Given the description of an element on the screen output the (x, y) to click on. 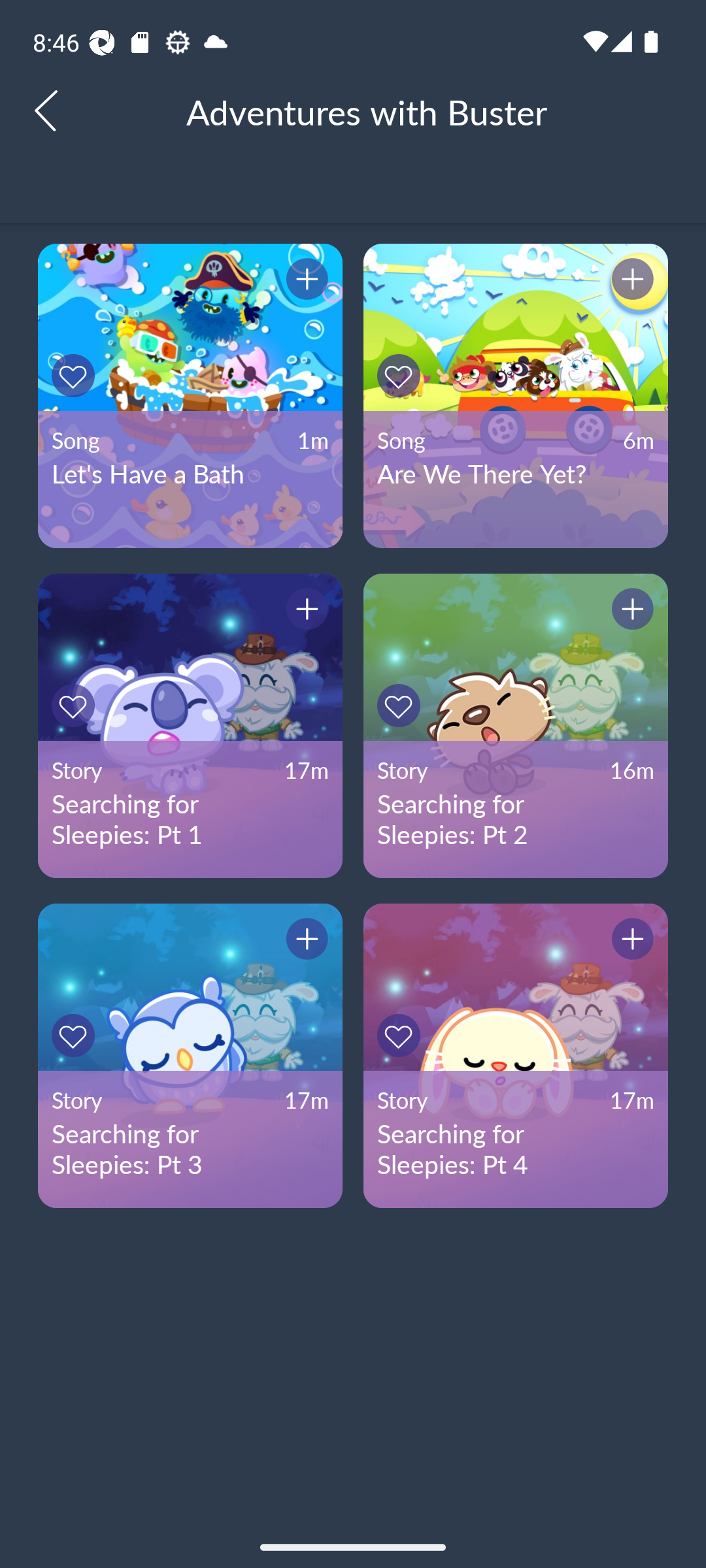
Button (304, 281)
Button (629, 281)
Button (76, 375)
Button (401, 375)
Button (304, 611)
Button (629, 611)
Button (76, 705)
Button (401, 705)
Button (304, 941)
Button (629, 941)
Button (76, 1035)
Button (401, 1035)
